Given the description of an element on the screen output the (x, y) to click on. 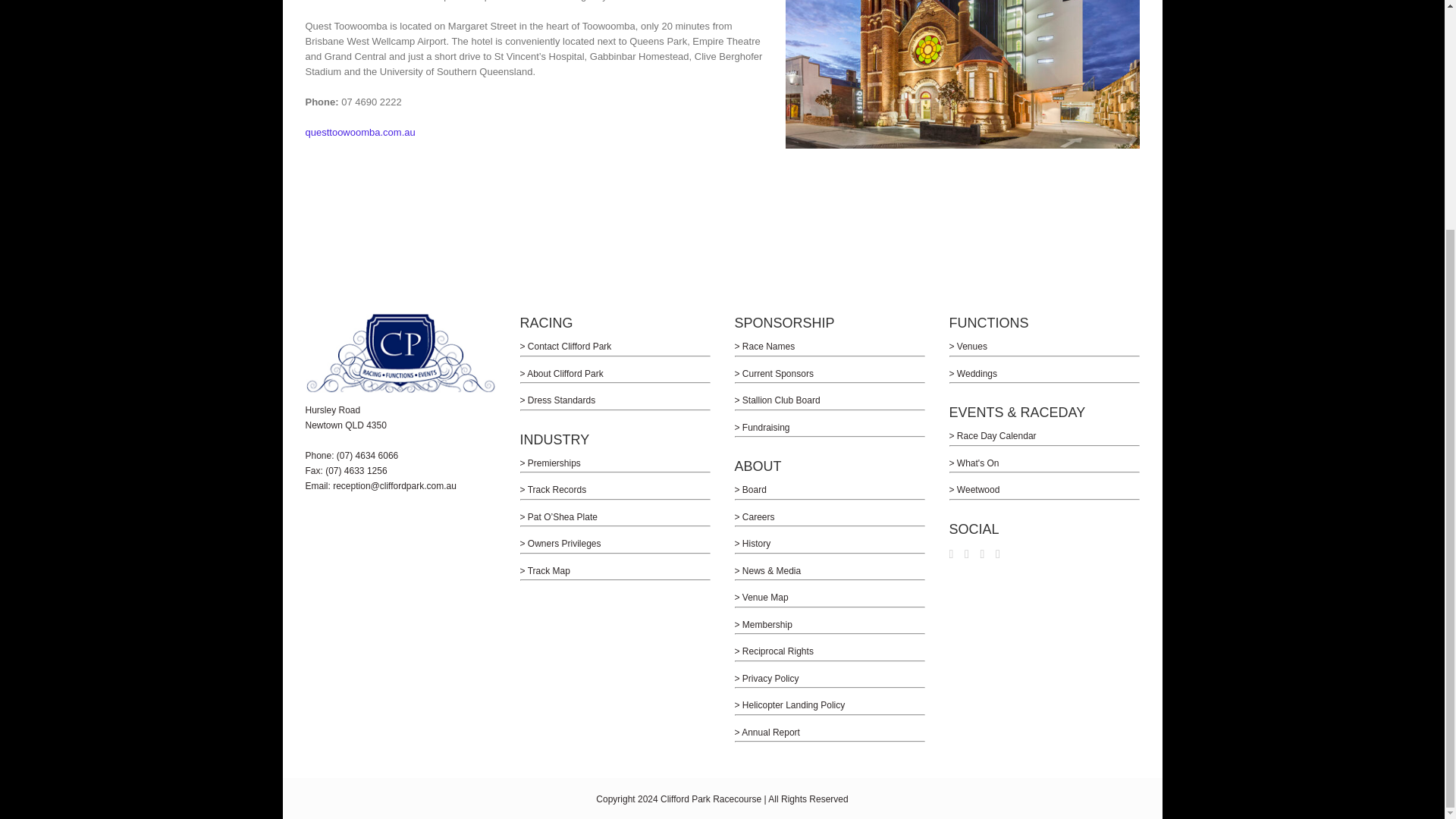
questtoowoomba.com.au (359, 132)
